Given the description of an element on the screen output the (x, y) to click on. 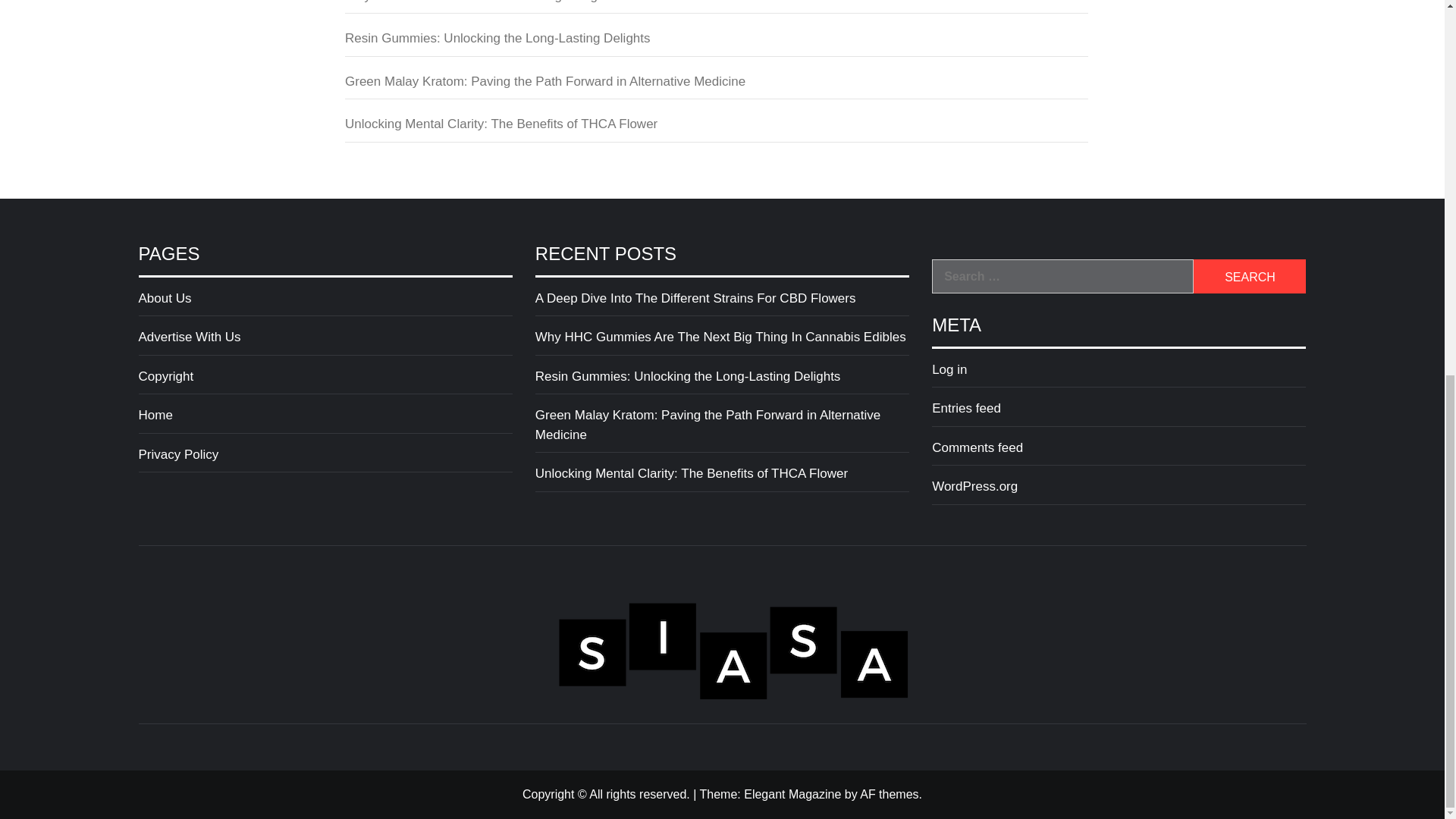
Entries feed (1118, 412)
Unlocking Mental Clarity: The Benefits of THCA Flower (716, 128)
Search (1249, 276)
Why HHC Gummies Are The Next Big Thing In Cannabis Edibles (716, 7)
Search (1249, 276)
Search (1249, 276)
Resin Gummies: Unlocking the Long-Lasting Delights (721, 380)
Comments feed (1118, 452)
Elegant Magazine (792, 793)
